Given the description of an element on the screen output the (x, y) to click on. 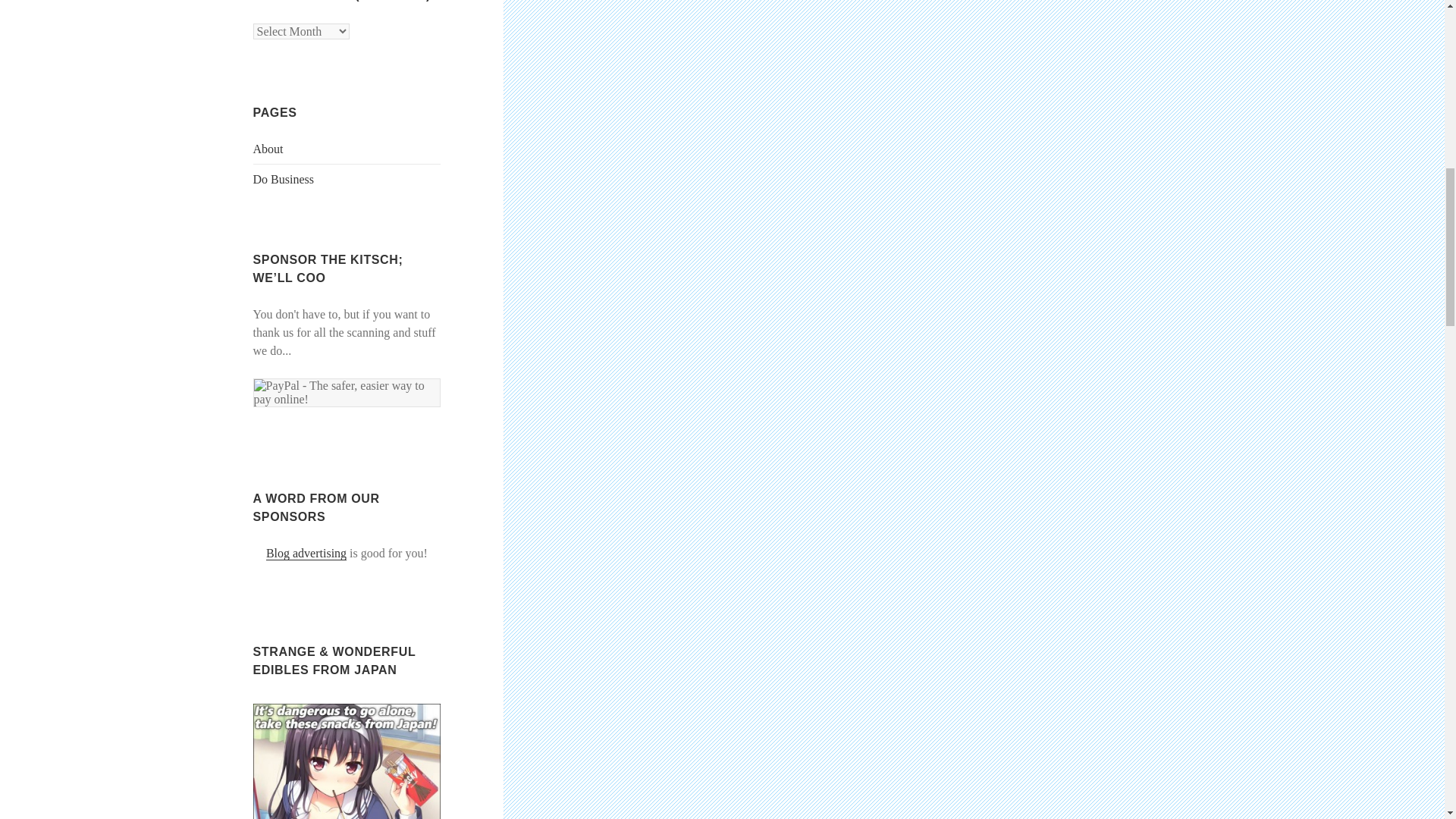
About (268, 148)
Blog advertising (306, 553)
Do Business (283, 178)
